Given the description of an element on the screen output the (x, y) to click on. 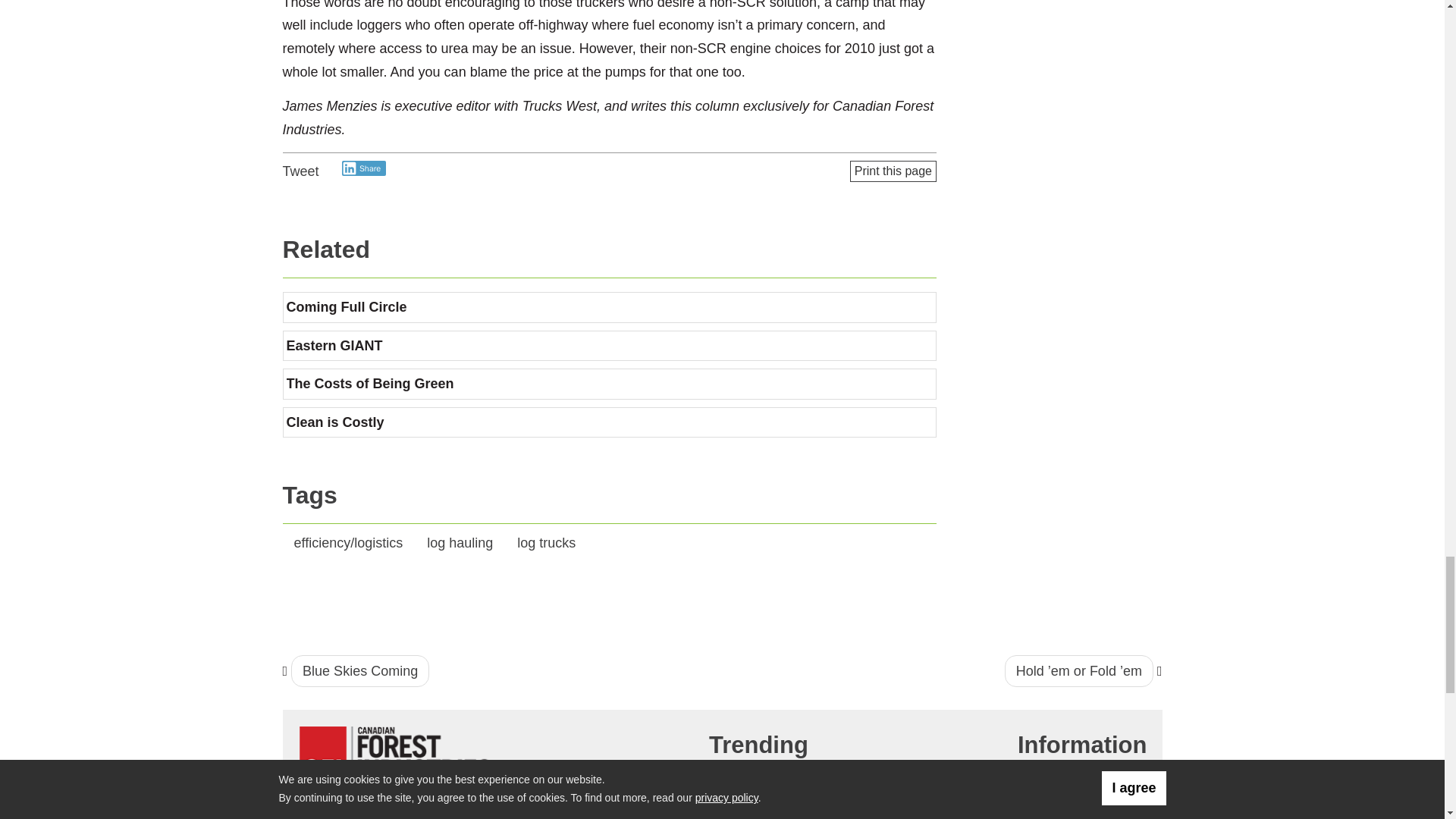
Wood Business (395, 752)
